Given the description of an element on the screen output the (x, y) to click on. 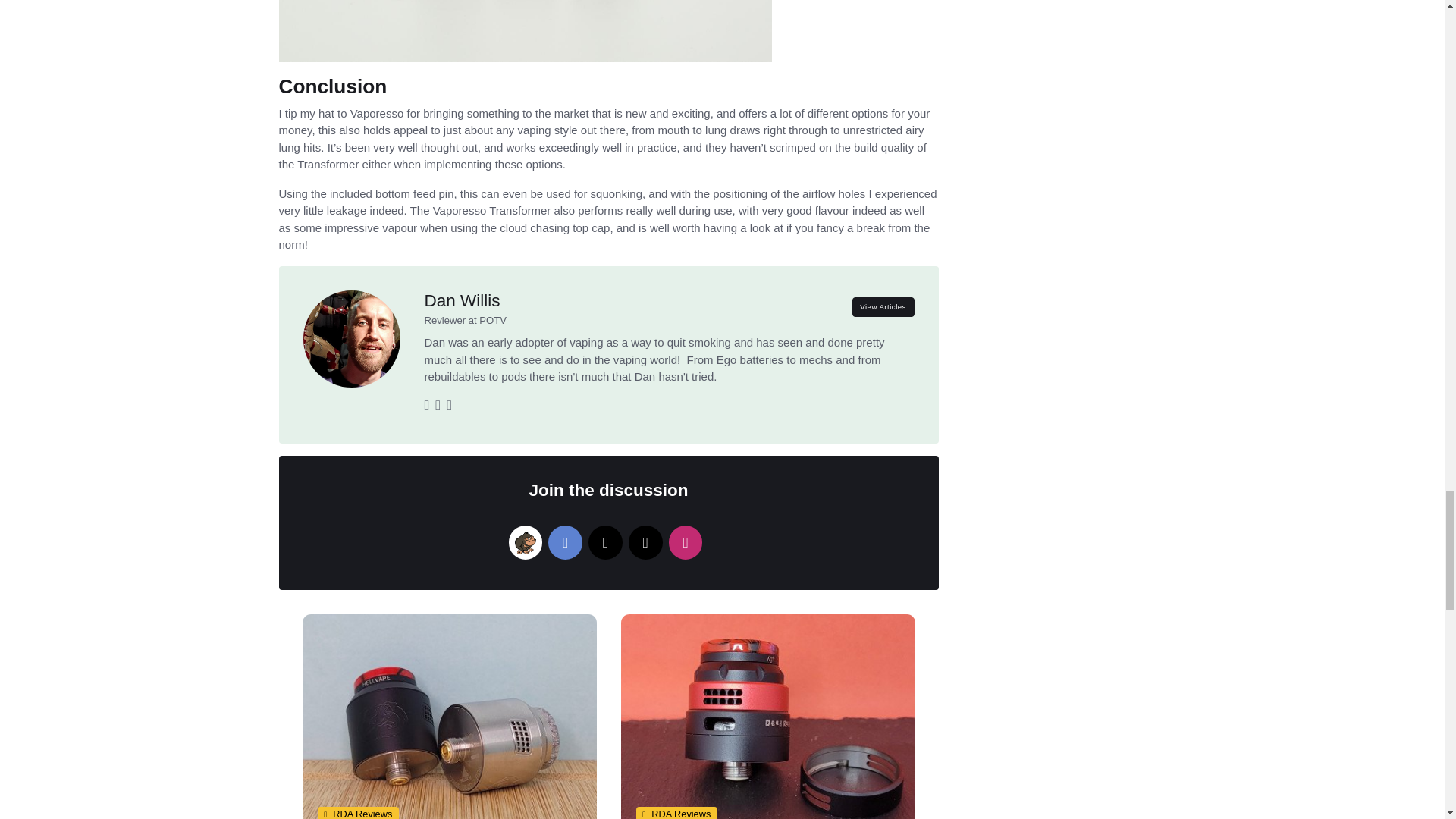
RDA Reviews (357, 812)
Dan Willis (462, 300)
View Articles (882, 306)
